Given the description of an element on the screen output the (x, y) to click on. 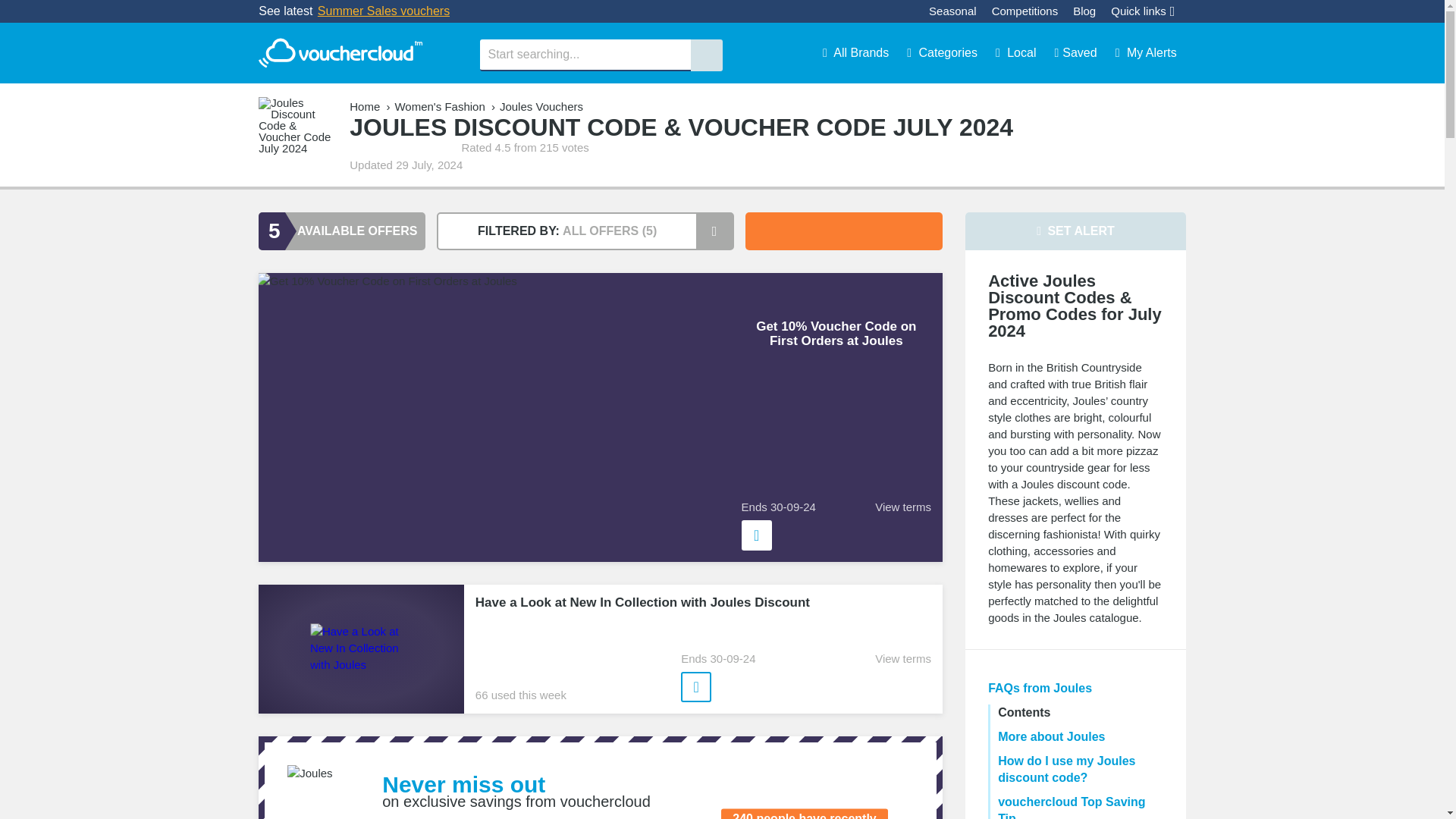
SEARCH (706, 55)
vouchercloud (340, 52)
